Given the description of an element on the screen output the (x, y) to click on. 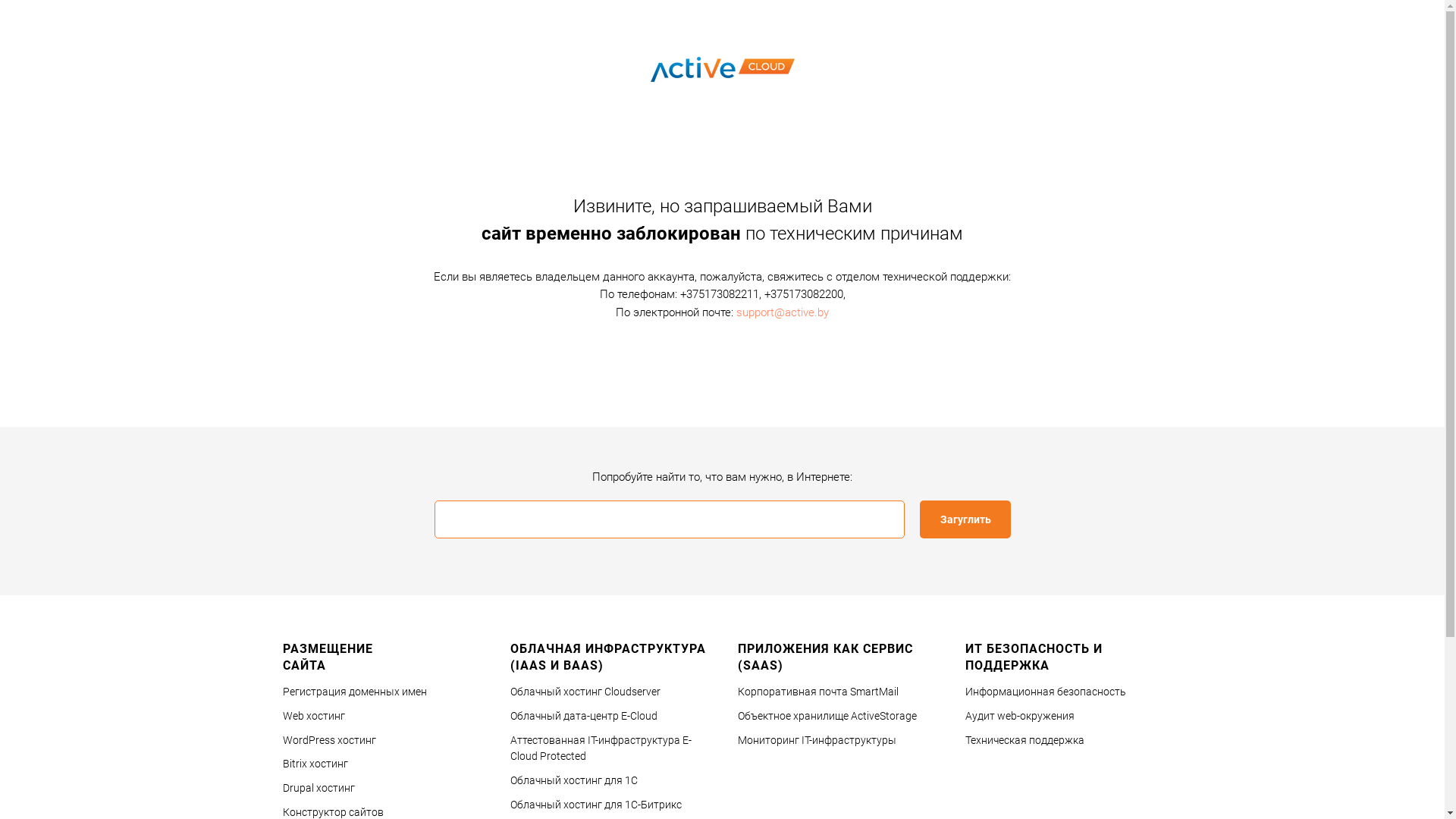
+375173082200 Element type: text (803, 294)
+375173082211 Element type: text (718, 294)
support@active.by Element type: text (782, 311)
